Given the description of an element on the screen output the (x, y) to click on. 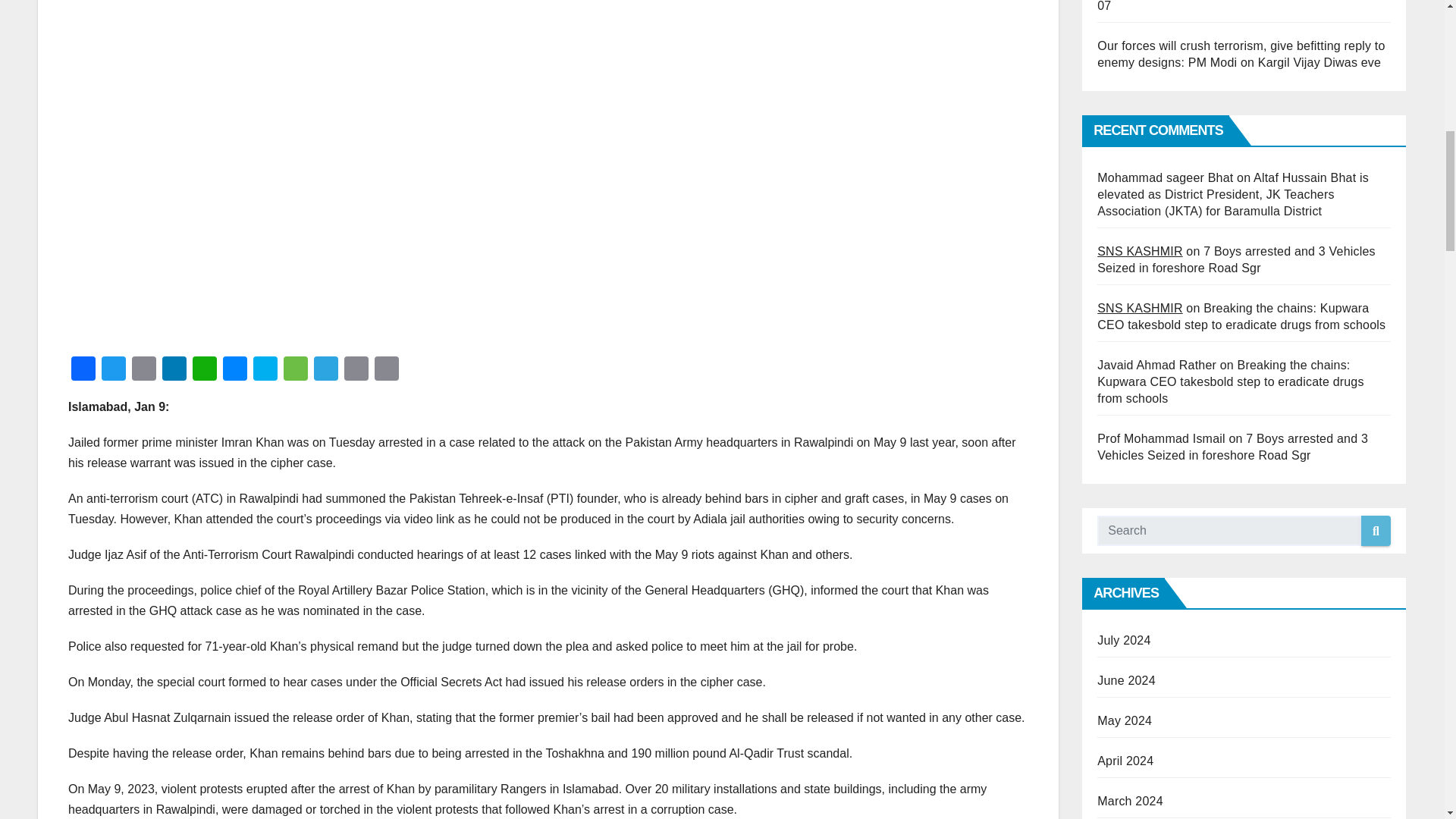
Email (143, 370)
Skype (265, 370)
Facebook (83, 370)
Copy Link (386, 370)
Telegram (325, 370)
Message (296, 370)
WhatsApp (204, 370)
Print (355, 370)
Twitter (114, 370)
LinkedIn (173, 370)
Messenger (234, 370)
